Given the description of an element on the screen output the (x, y) to click on. 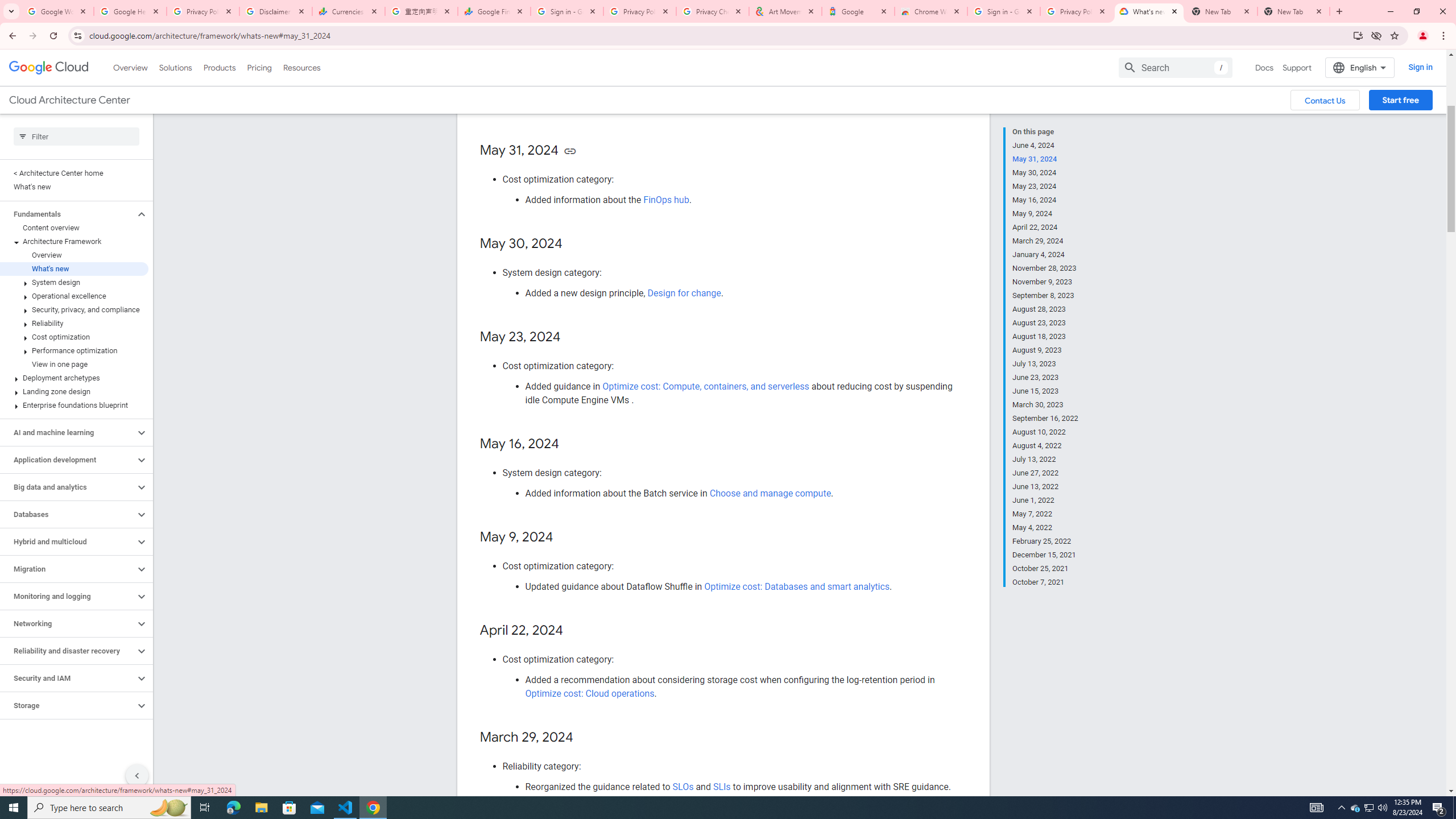
< Architecture Center home (74, 173)
Reliability and disaster recovery (67, 650)
Type to filter (76, 136)
Privacy Checkup (712, 11)
May 31, 2024 (1044, 159)
